Given the description of an element on the screen output the (x, y) to click on. 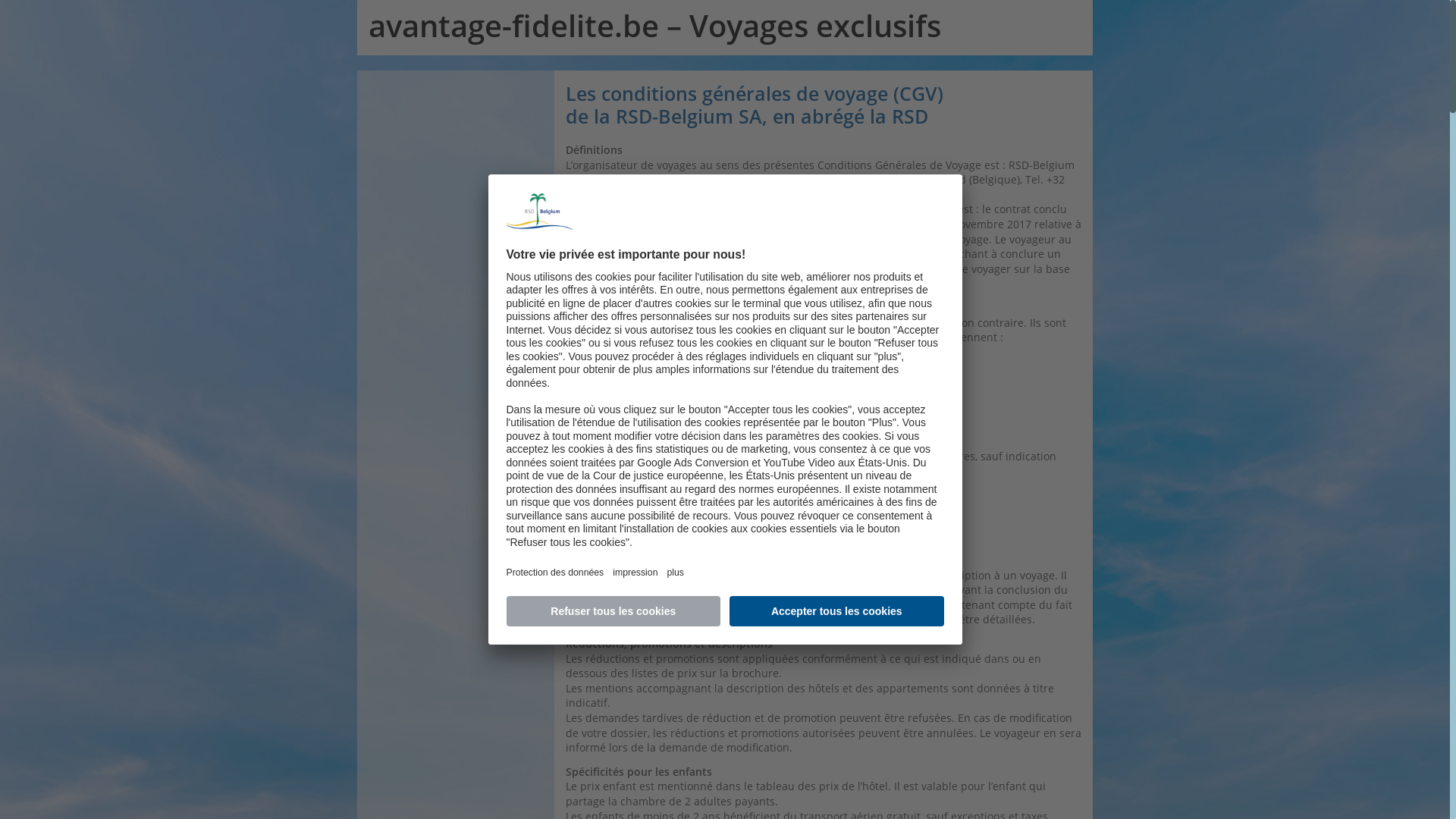
info@fr.rsd-belgium.be Element type: text (733, 194)
